Given the description of an element on the screen output the (x, y) to click on. 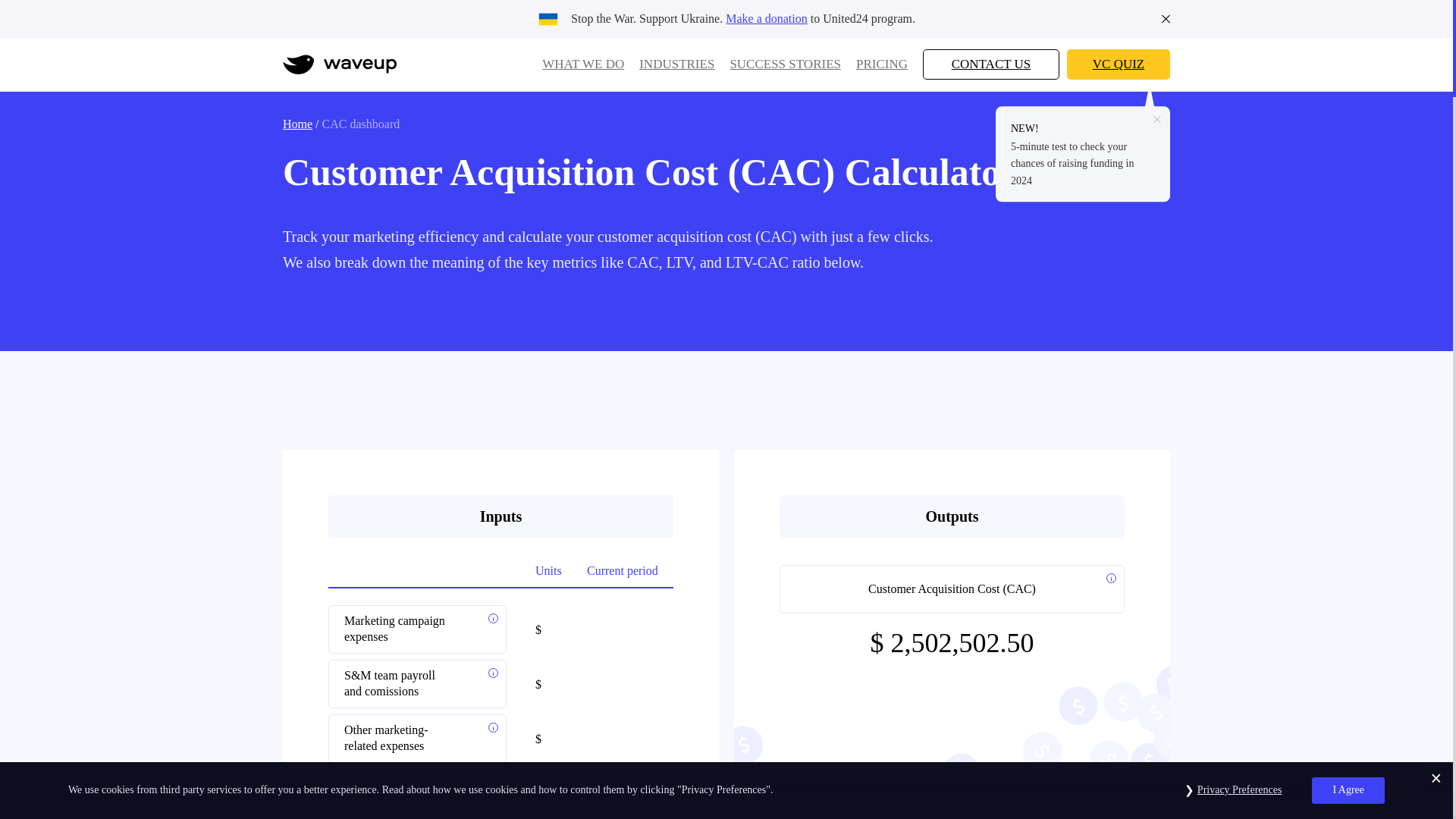
Make a donation (766, 18)
WHAT WE DO (582, 63)
INDUSTRIES (676, 63)
